Given the description of an element on the screen output the (x, y) to click on. 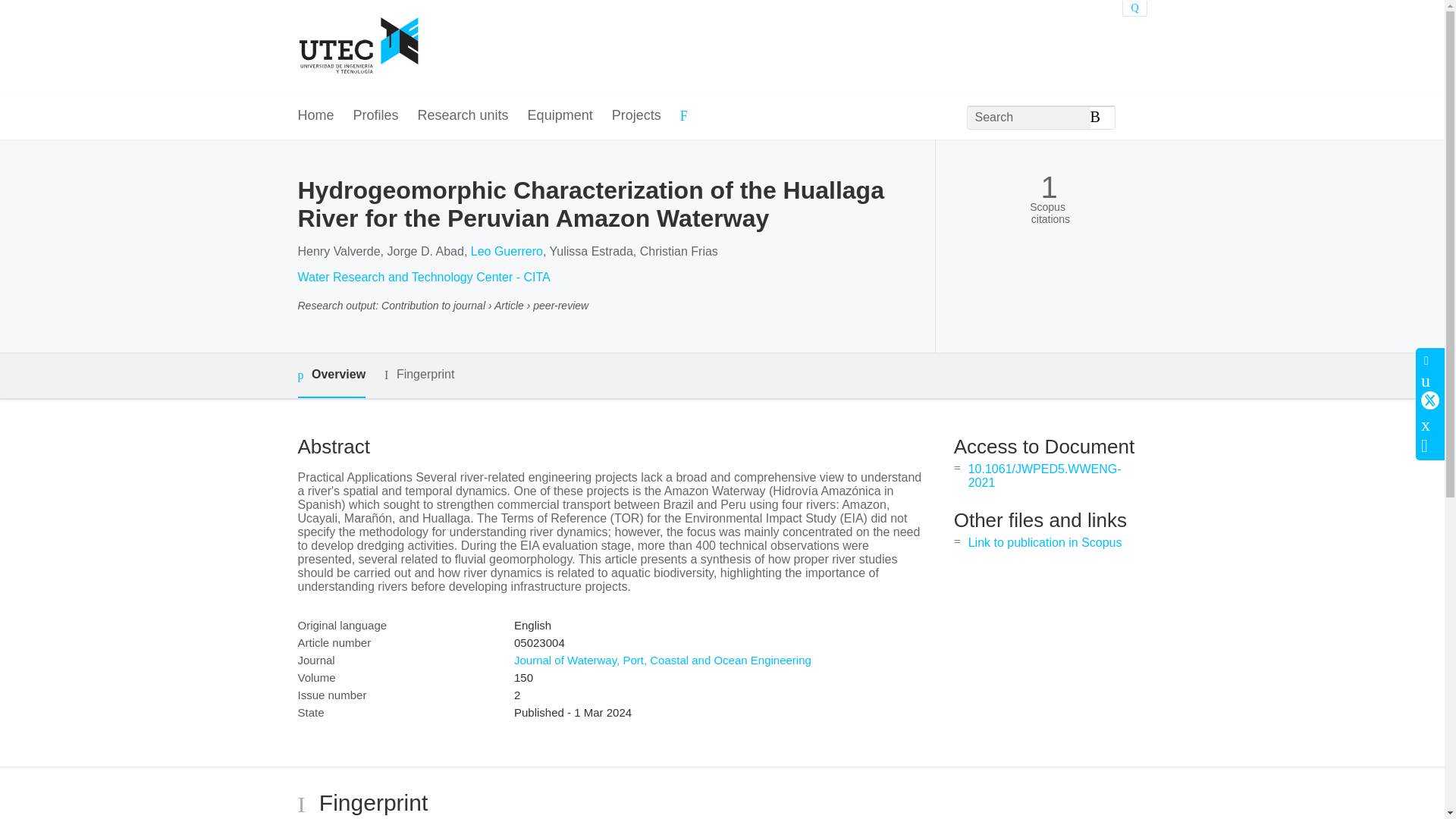
Journal of Waterway, Port, Coastal and Ocean Engineering (661, 659)
Projects (636, 116)
Research units (462, 116)
Link to publication in Scopus (1045, 542)
University of Engineering and Technology - UTEC Home (358, 46)
Fingerprint (419, 374)
Overview (331, 375)
Equipment (559, 116)
Profiles (375, 116)
